Given the description of an element on the screen output the (x, y) to click on. 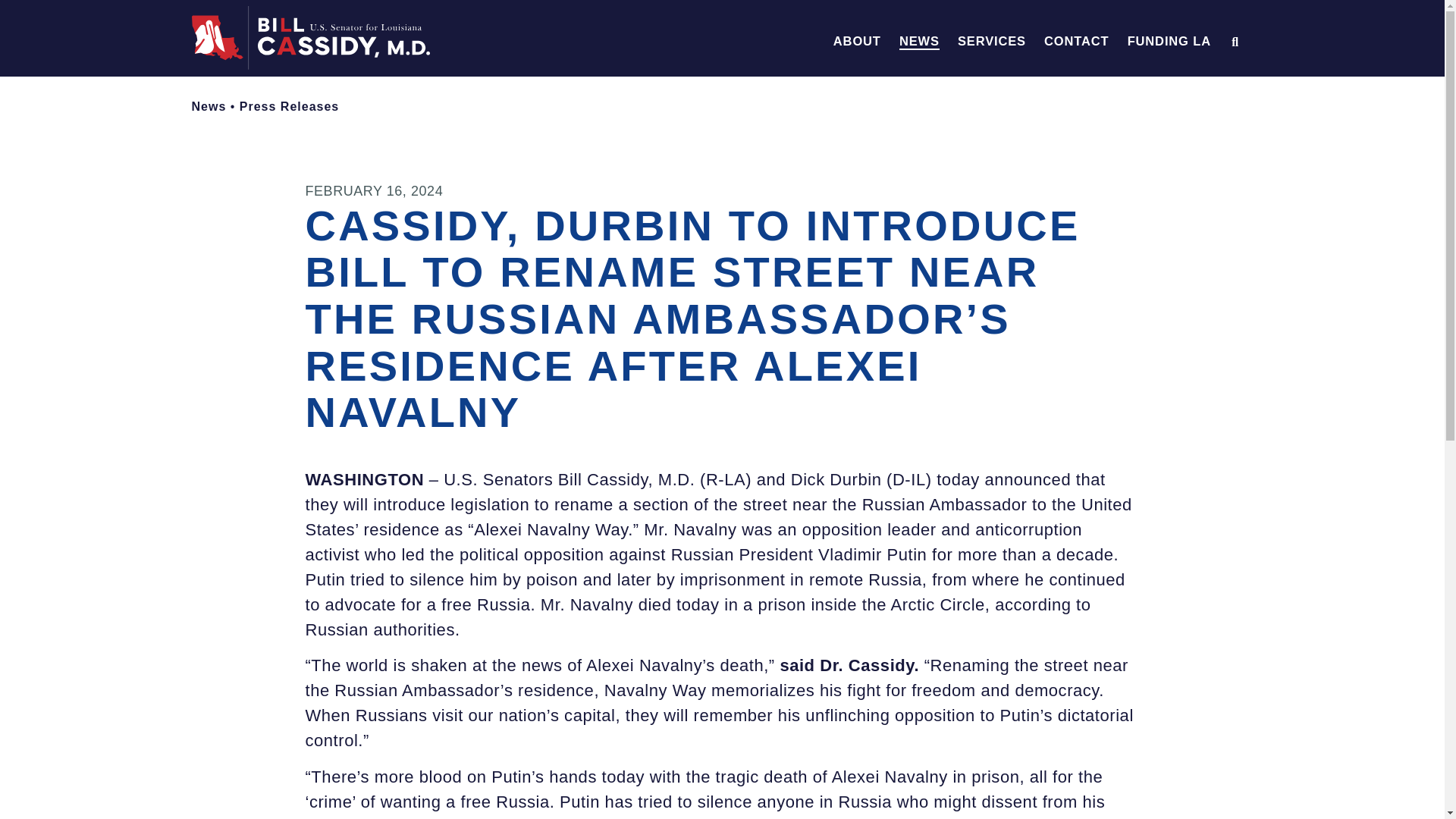
FUNDING LA (1168, 40)
SERVICES (992, 40)
CONTACT (1075, 40)
